Given the description of an element on the screen output the (x, y) to click on. 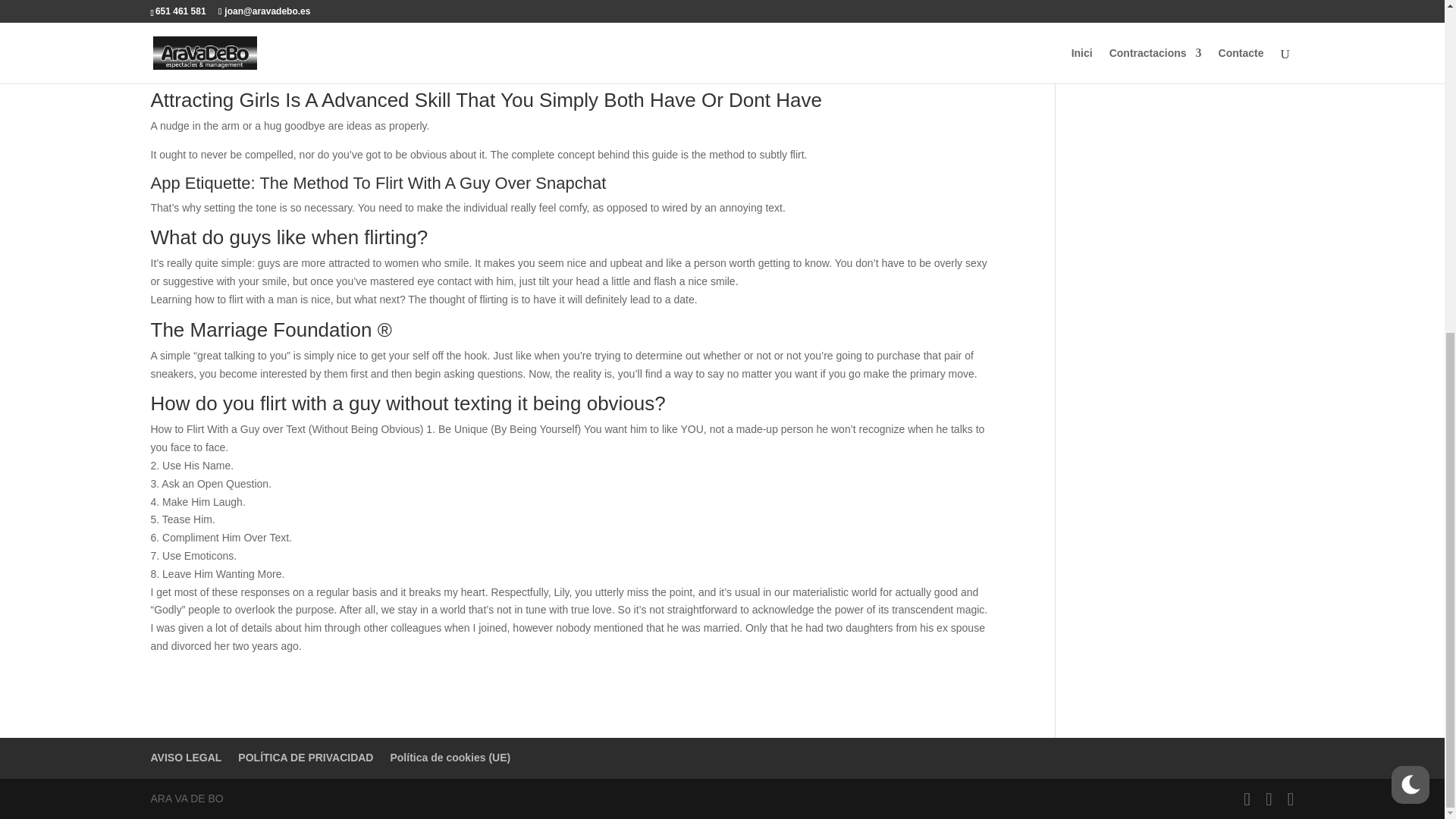
AVISO LEGAL (185, 757)
